Given the description of an element on the screen output the (x, y) to click on. 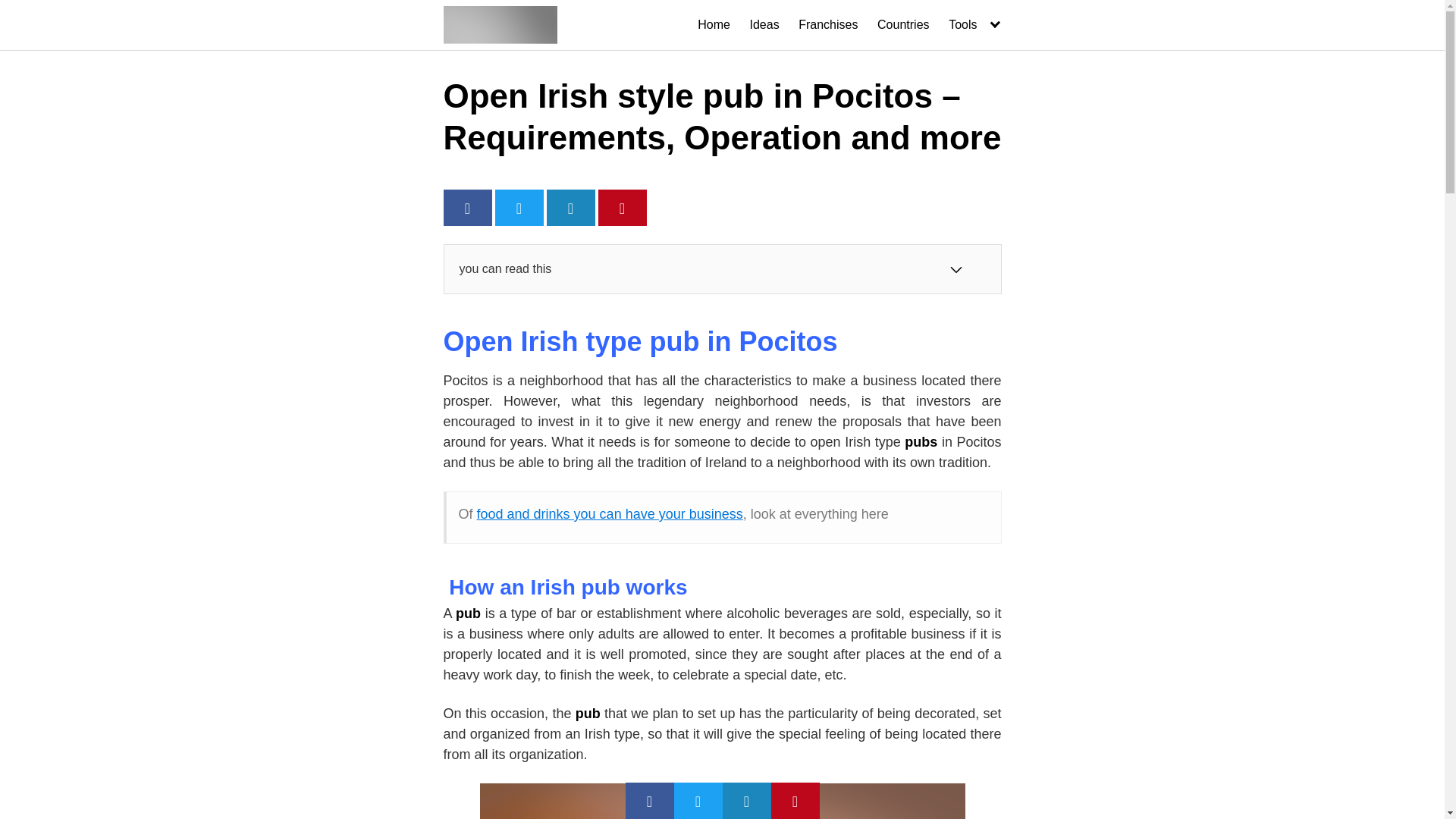
food and drinks you can have your business (609, 513)
Countries (902, 24)
Home (713, 24)
Tools (975, 24)
Ideas (763, 24)
Franchises (827, 24)
